Given the description of an element on the screen output the (x, y) to click on. 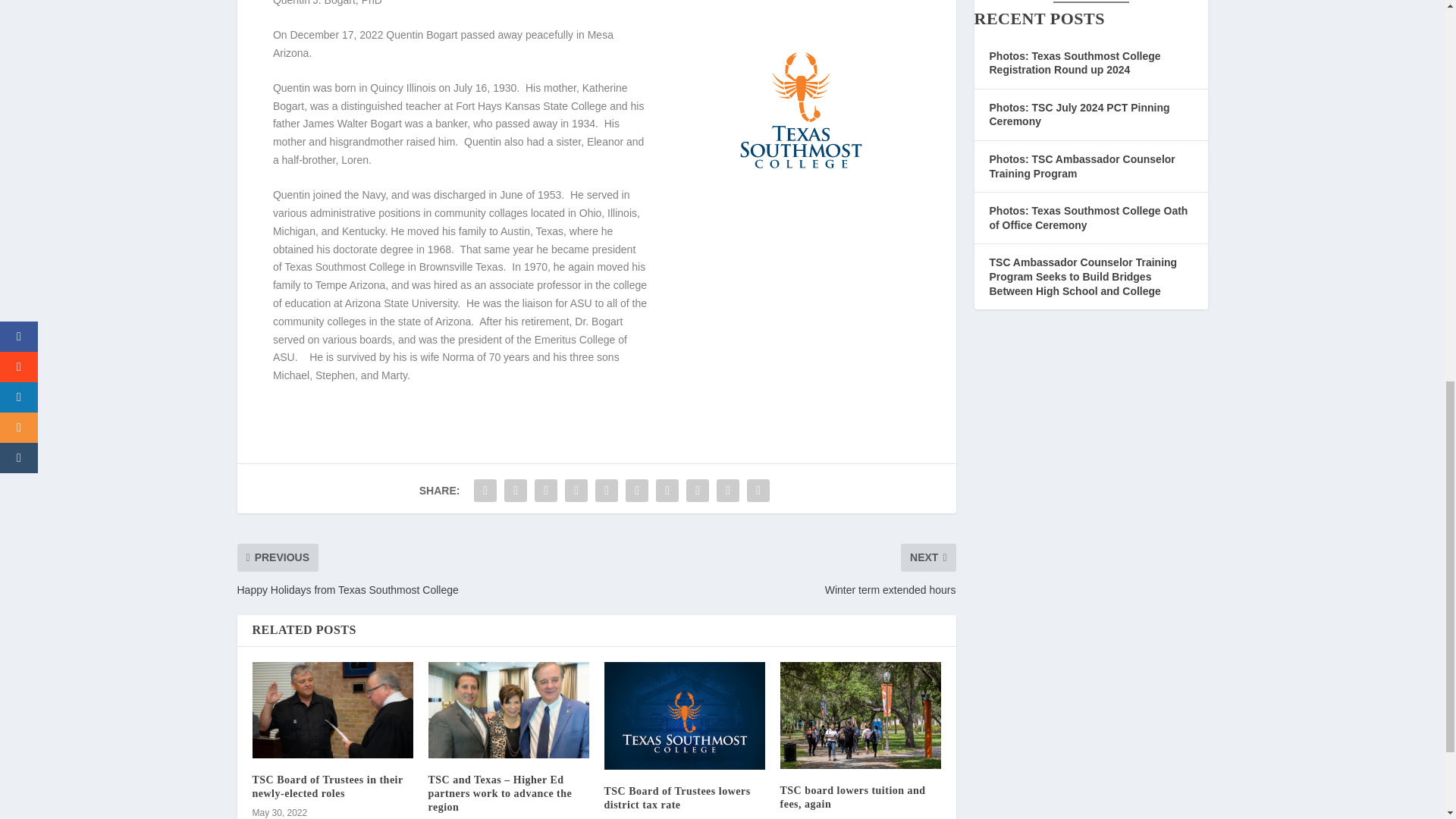
Share "Obituary: Quentin J. Bogart, PhD" via Facebook (485, 490)
Share "Obituary: Quentin J. Bogart, PhD" via Twitter (515, 490)
Texas Southmost Ollege (801, 114)
